Given the description of an element on the screen output the (x, y) to click on. 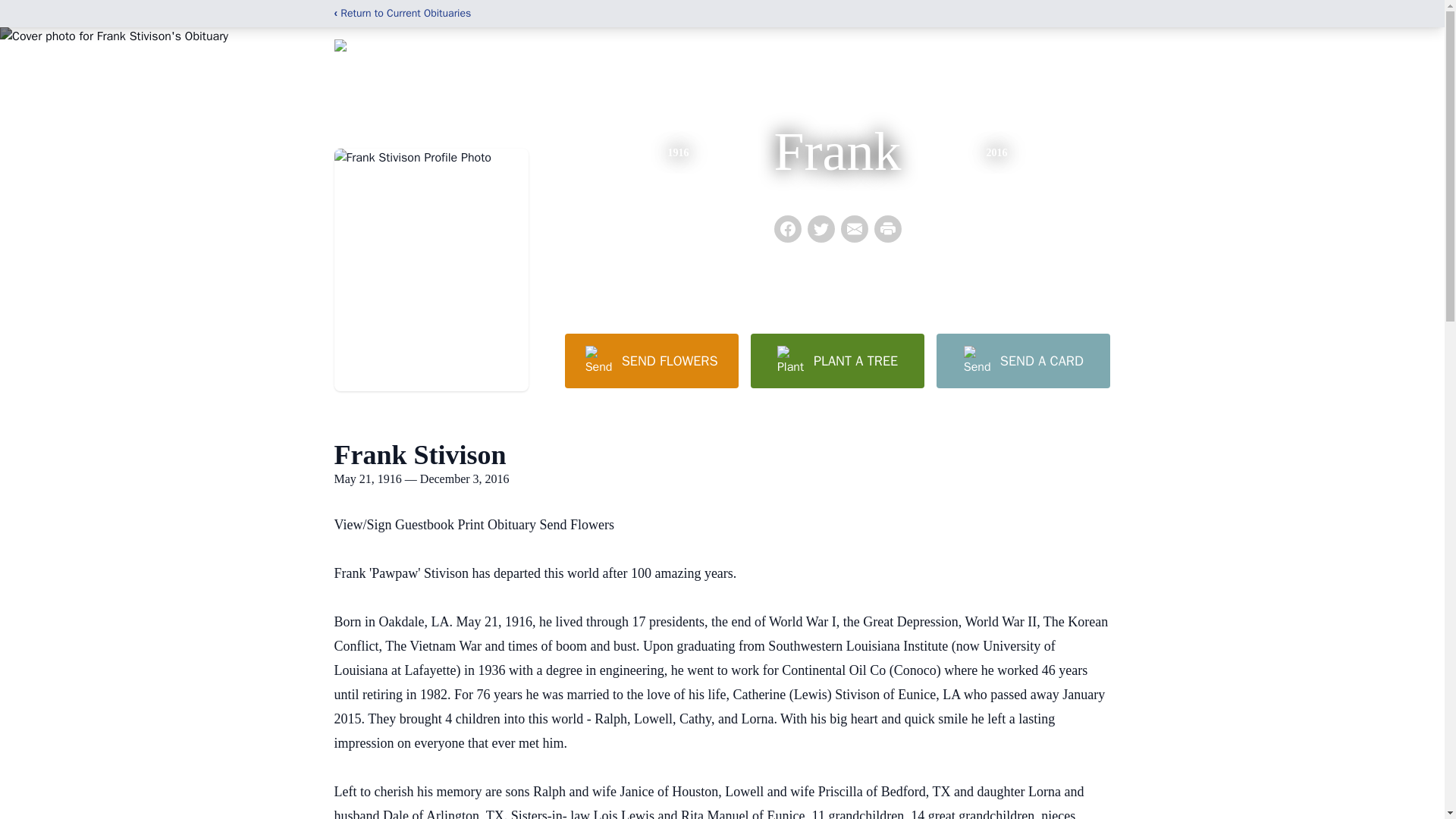
PLANT A TREE (837, 360)
SEND A CARD (1022, 360)
SEND FLOWERS (651, 360)
